Given the description of an element on the screen output the (x, y) to click on. 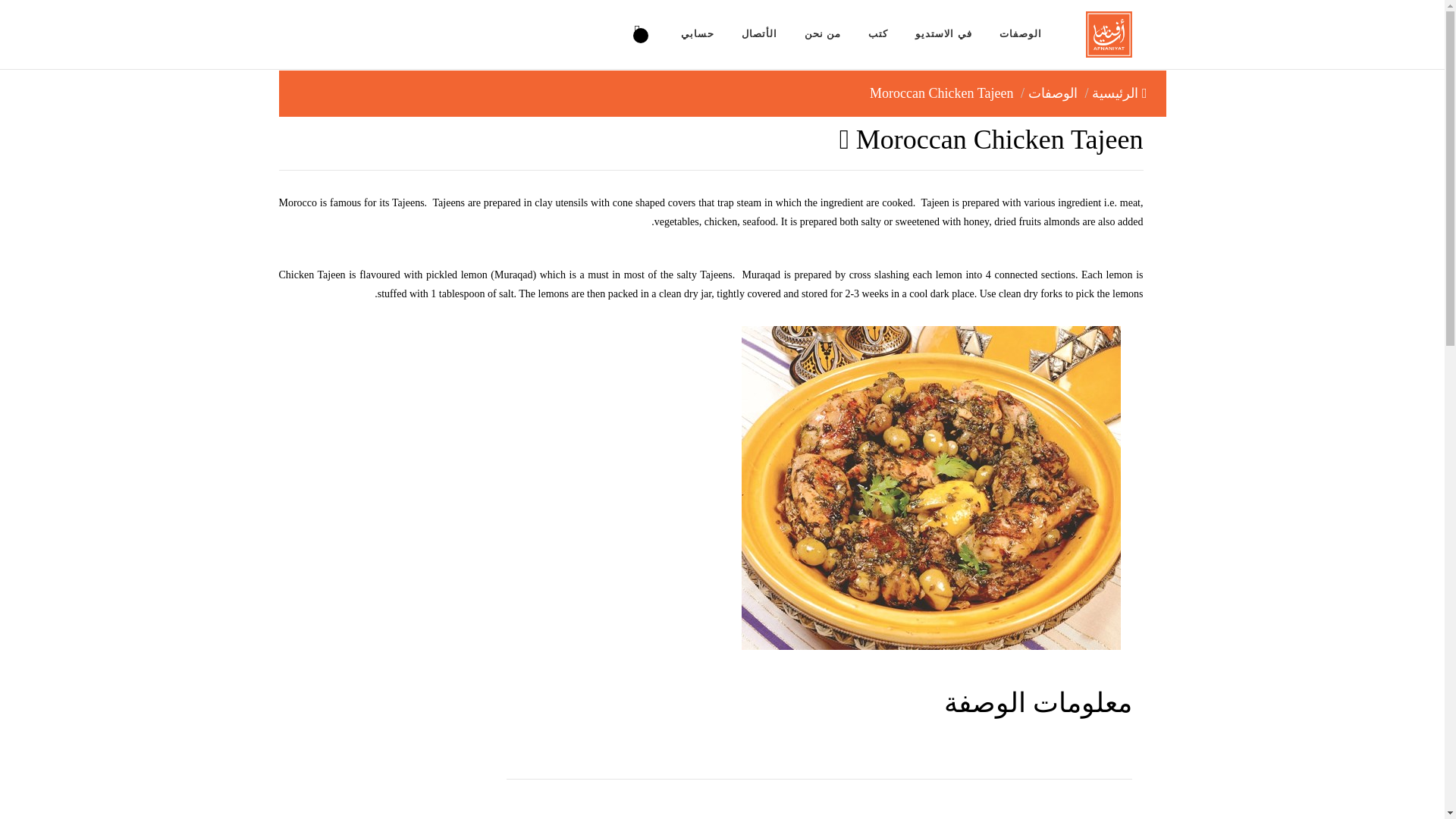
Moroccan Chicken Tajeen (941, 92)
